Given the description of an element on the screen output the (x, y) to click on. 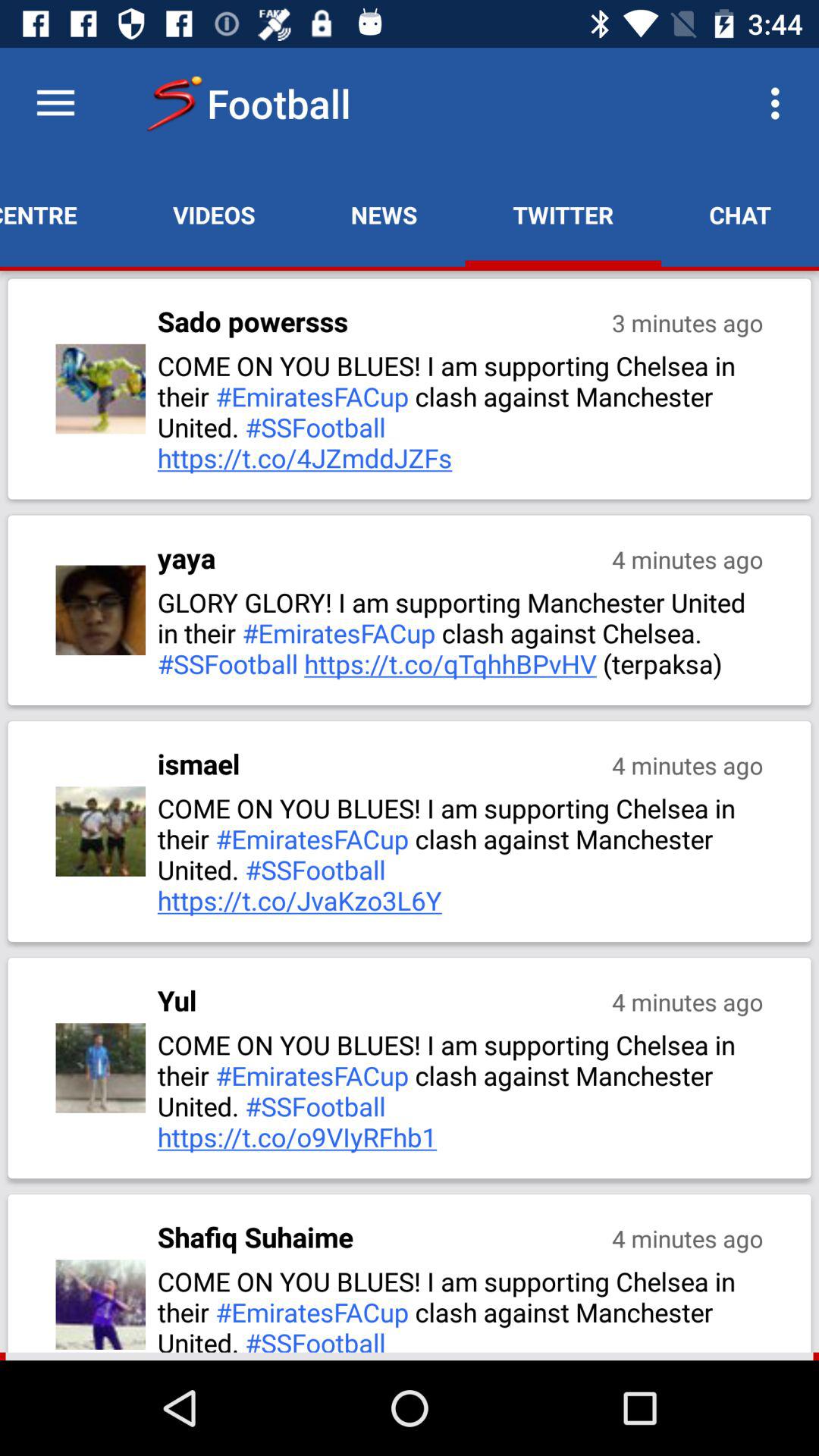
select the item next to the twitter (779, 103)
